Given the description of an element on the screen output the (x, y) to click on. 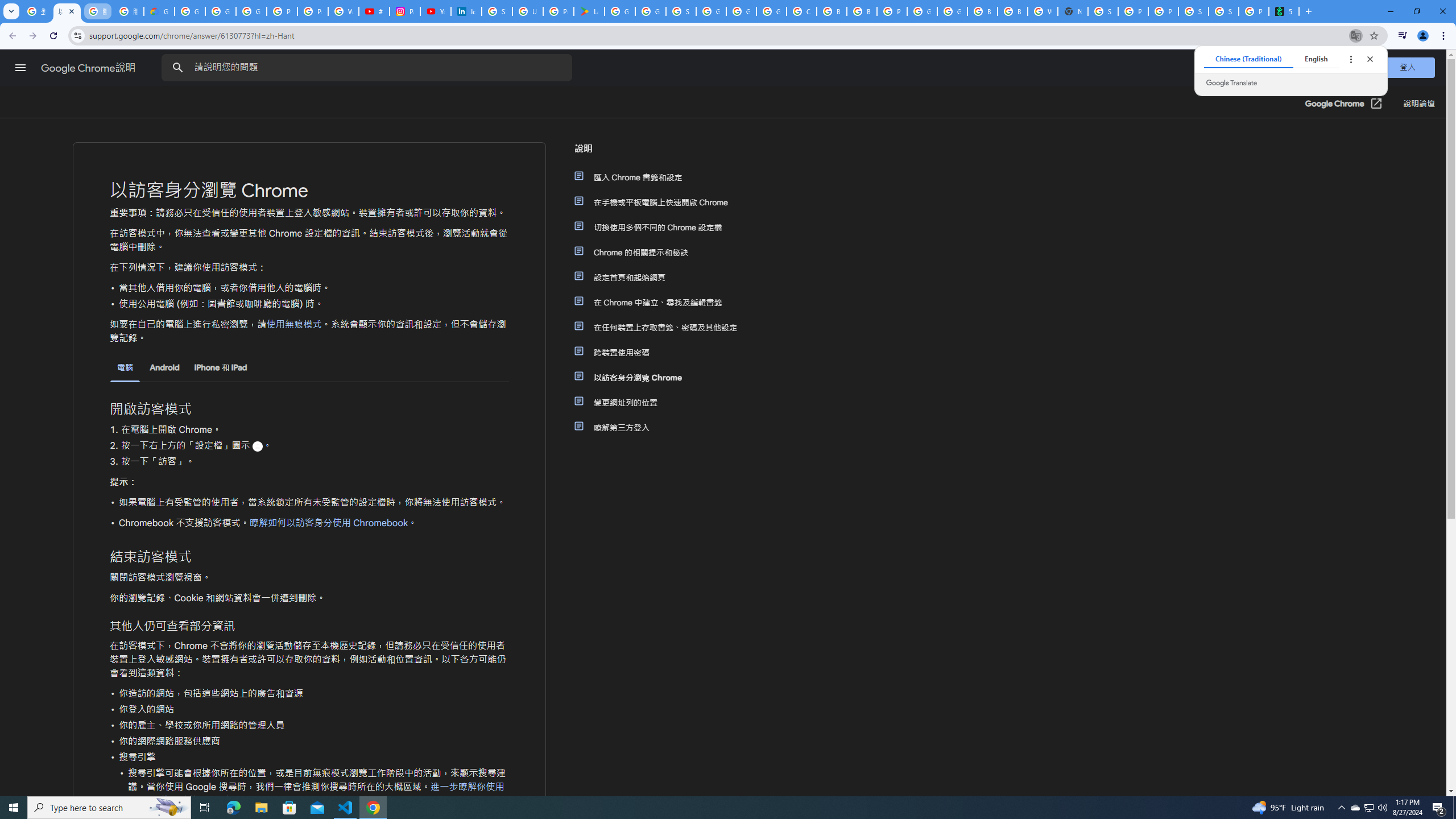
Google Cloud Platform (951, 11)
Translate options (1349, 58)
